Given the description of an element on the screen output the (x, y) to click on. 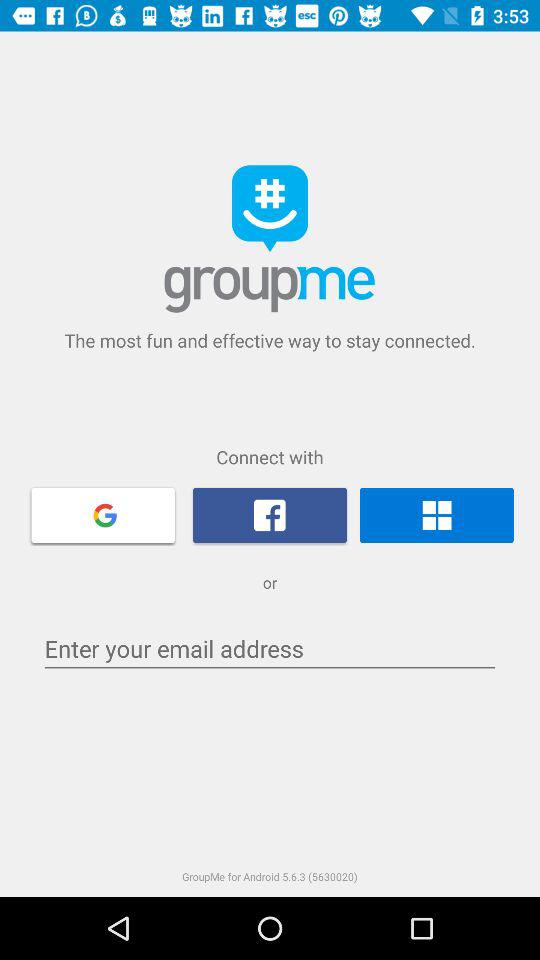
connect with google on group me messages (103, 513)
